Given the description of an element on the screen output the (x, y) to click on. 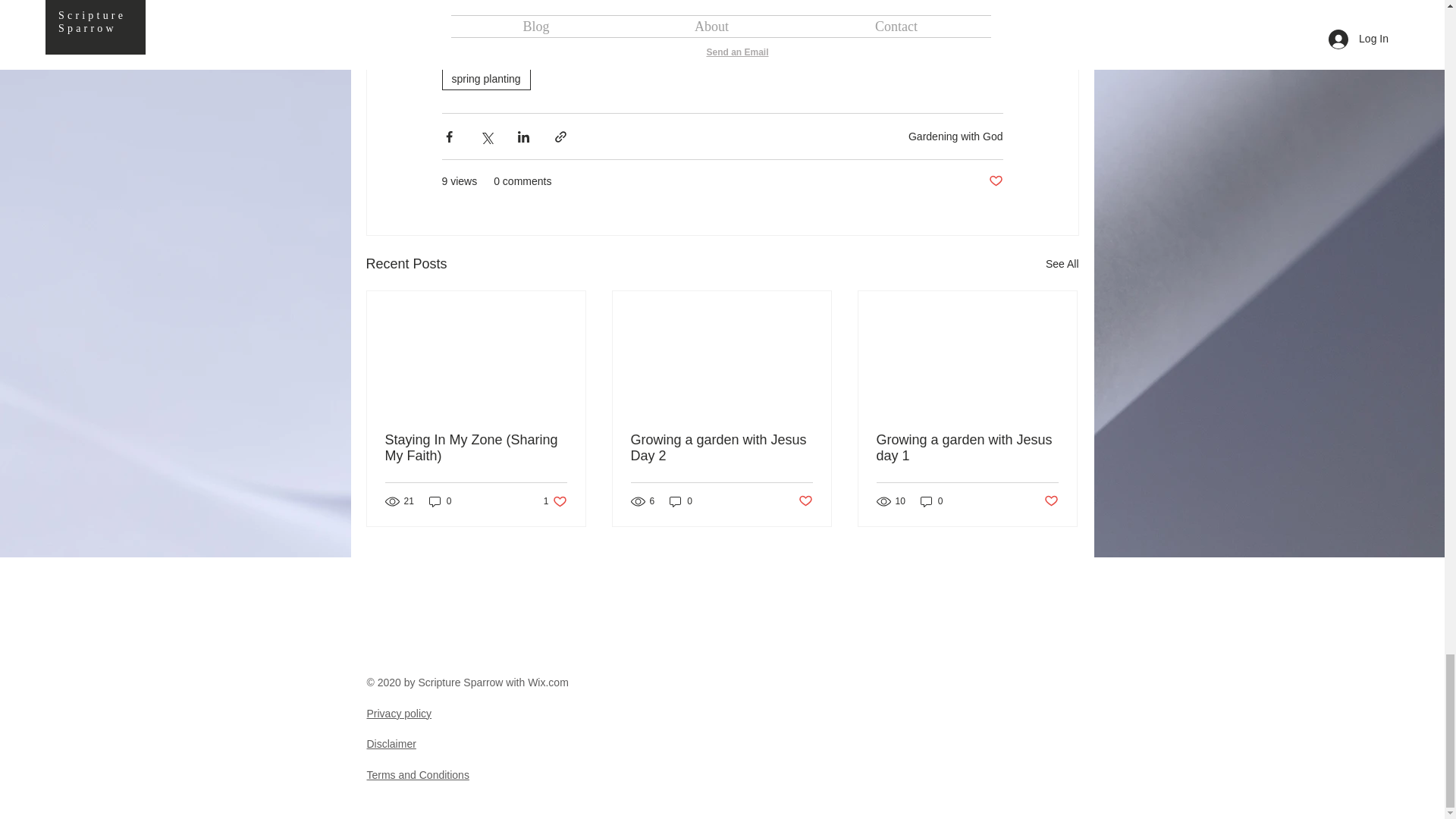
Faith (778, 49)
Bible Crafting (708, 49)
spring planting (485, 78)
gardening (893, 49)
seeds (956, 49)
Womens Biblestudy (497, 49)
Jesus (829, 49)
scriptureSparrow (610, 49)
